Given the description of an element on the screen output the (x, y) to click on. 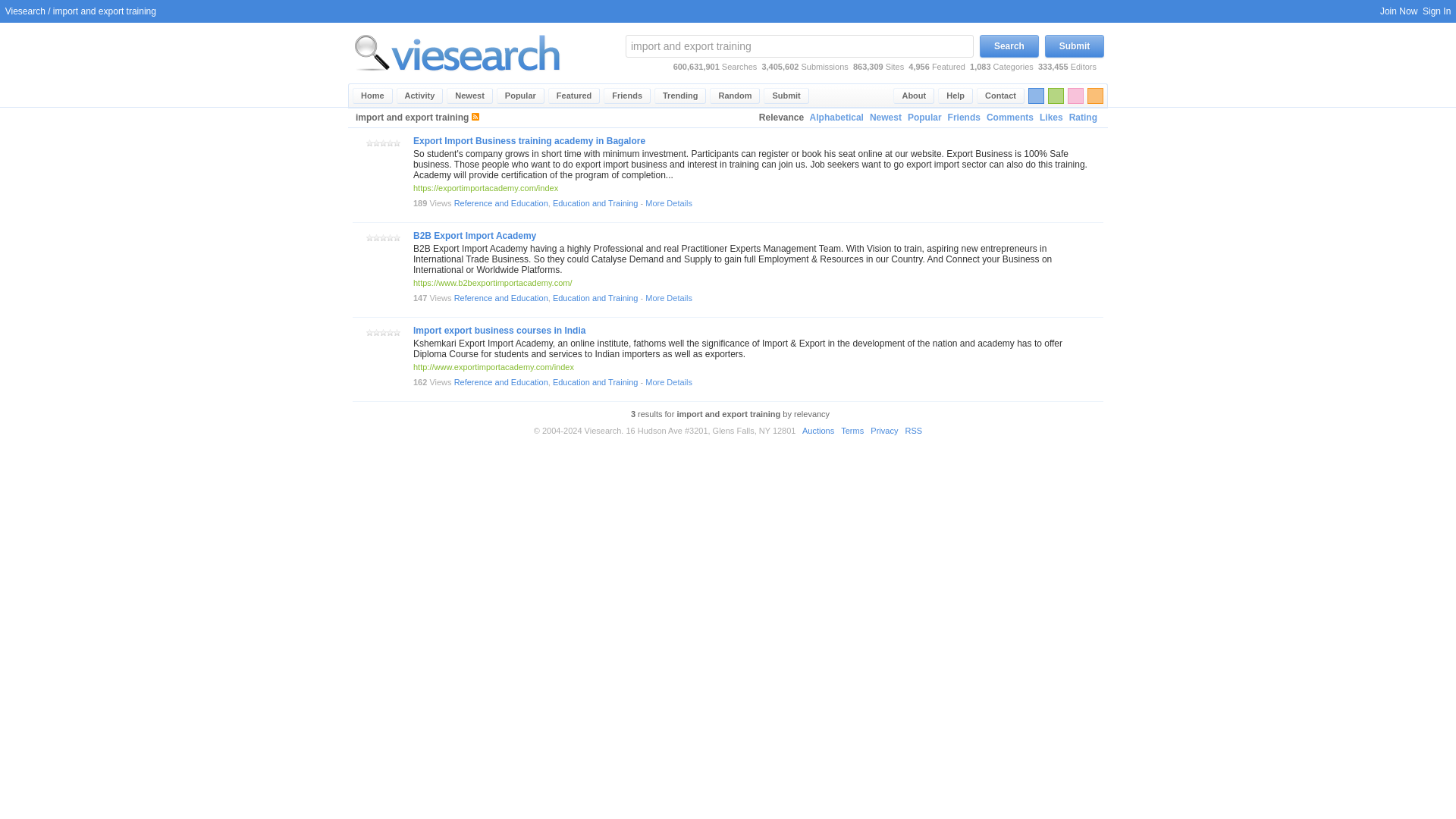
Get help with Viesearch (954, 95)
Viesearch (372, 95)
The top 50 most viewed sites in Viesearch (520, 95)
Join Now (1398, 10)
Sign In (1436, 10)
Viesearch - Human Powered Search Engine (457, 52)
Help (954, 95)
Likes (1050, 117)
Sign In (1436, 10)
Friends (964, 117)
Switch this page to green (1056, 95)
Activity (420, 95)
Random (735, 95)
import and export training (800, 46)
Contact (1000, 95)
